Given the description of an element on the screen output the (x, y) to click on. 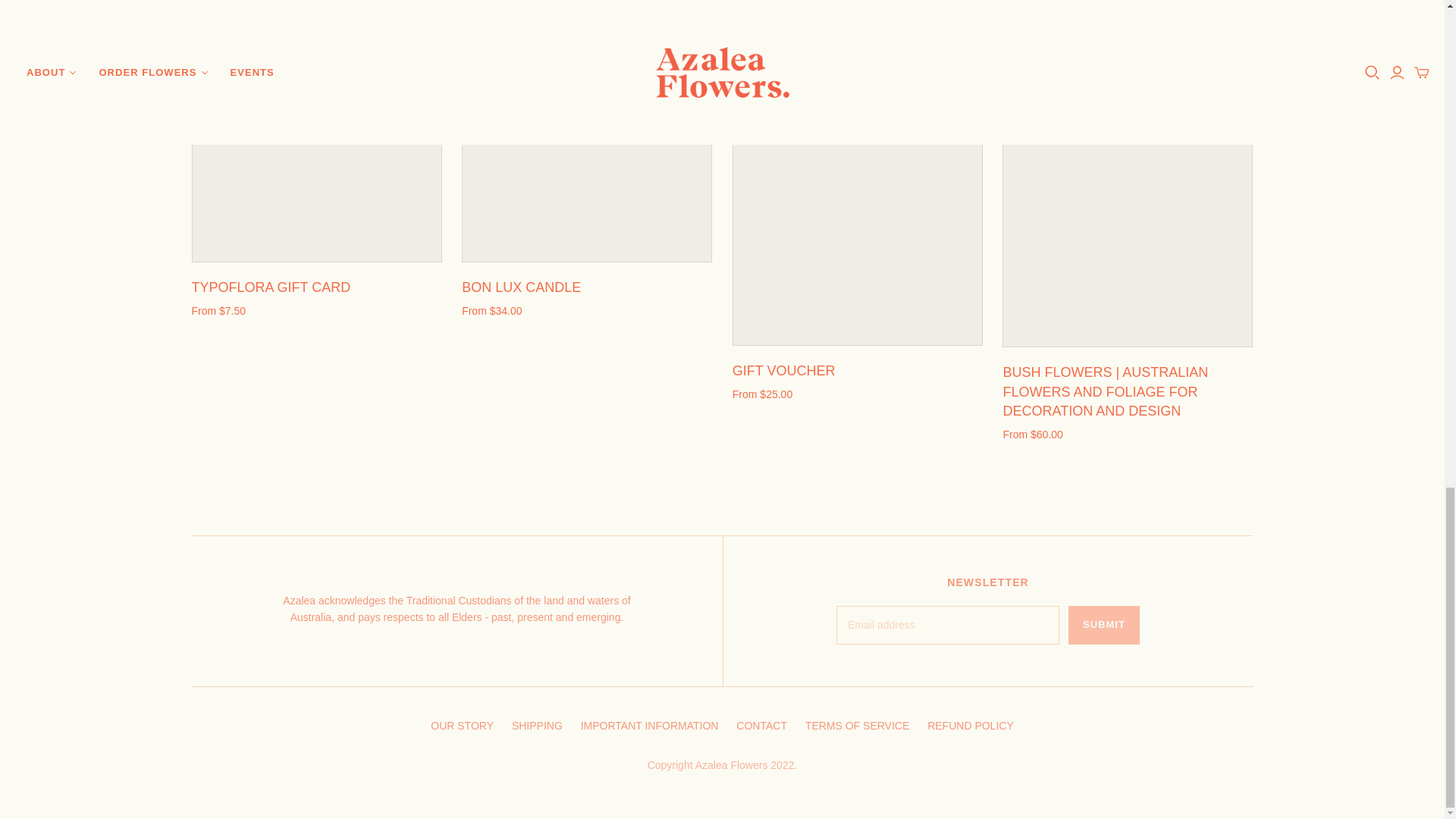
Submit (1104, 625)
